Given the description of an element on the screen output the (x, y) to click on. 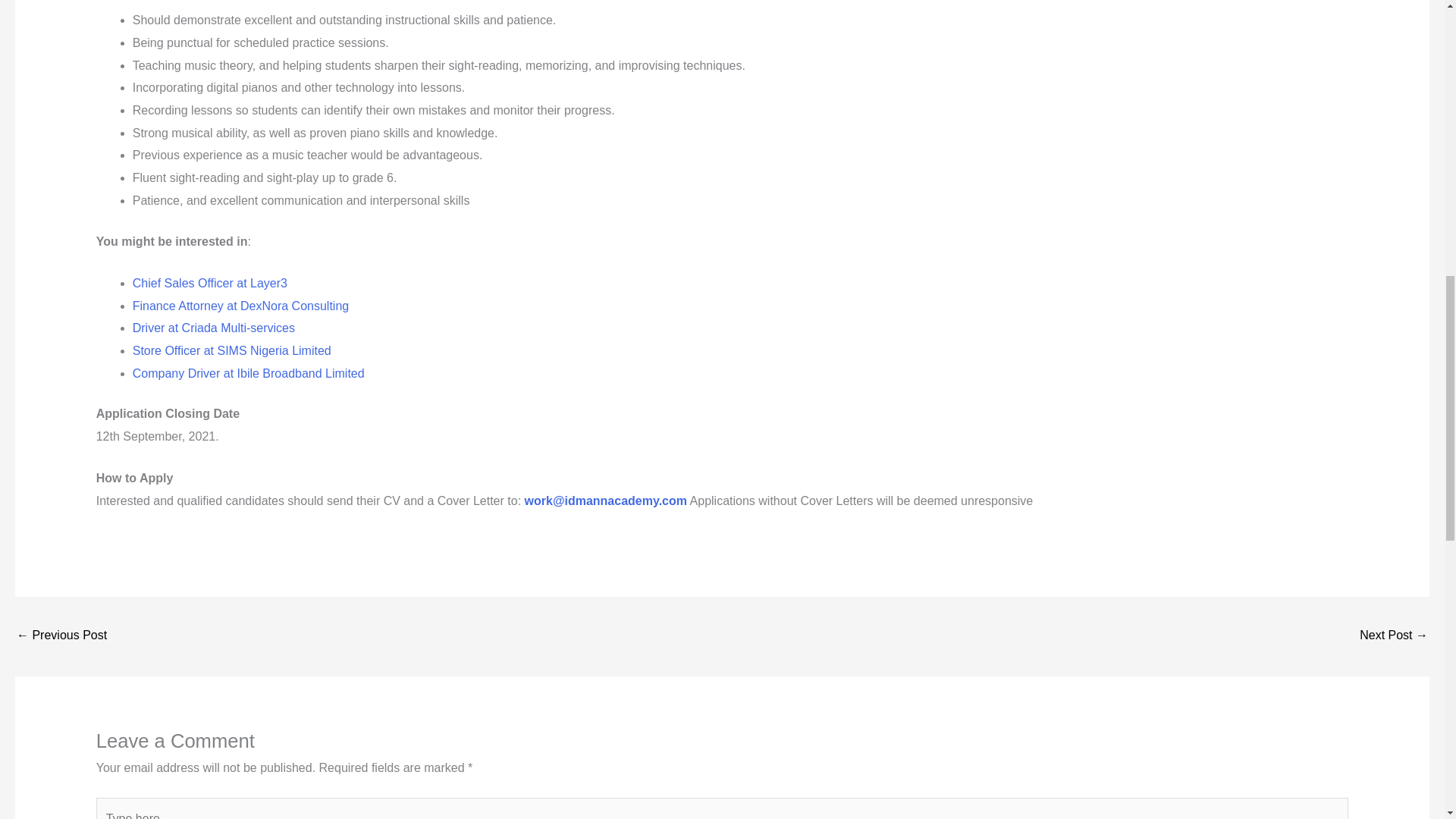
Finance Attorney at DexNora Consulting (240, 305)
Chief Sales Officer at Layer3 (209, 282)
Chief Sales Officer at Layer3 (61, 636)
Company Driver at Ibile Broadband Limited (248, 373)
Driver at Criada Multi-services (213, 327)
Store Officer at SIMS Nigeria Limited (231, 350)
